Given the description of an element on the screen output the (x, y) to click on. 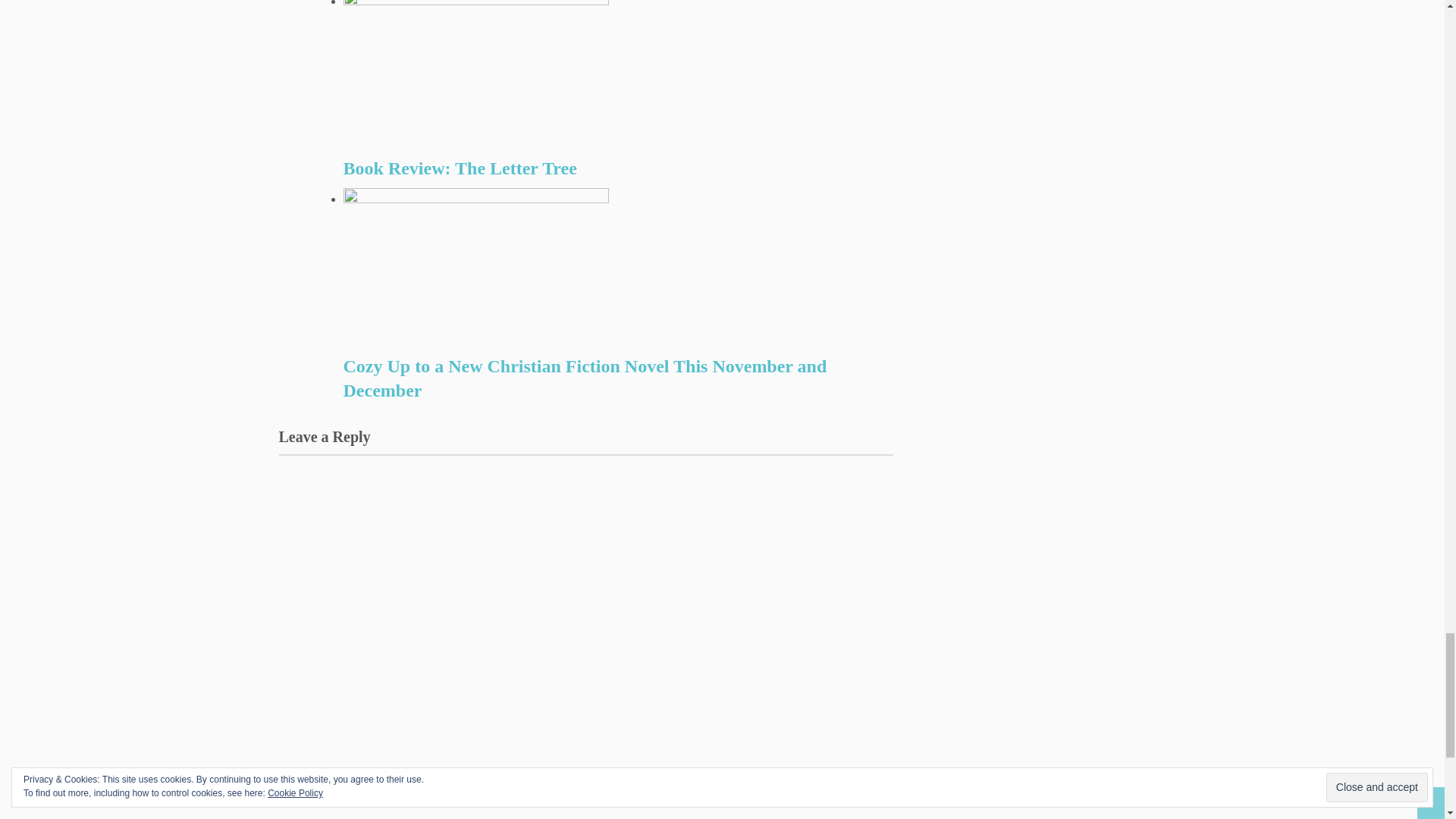
Book Review: The Letter Tree (617, 168)
